Given the description of an element on the screen output the (x, y) to click on. 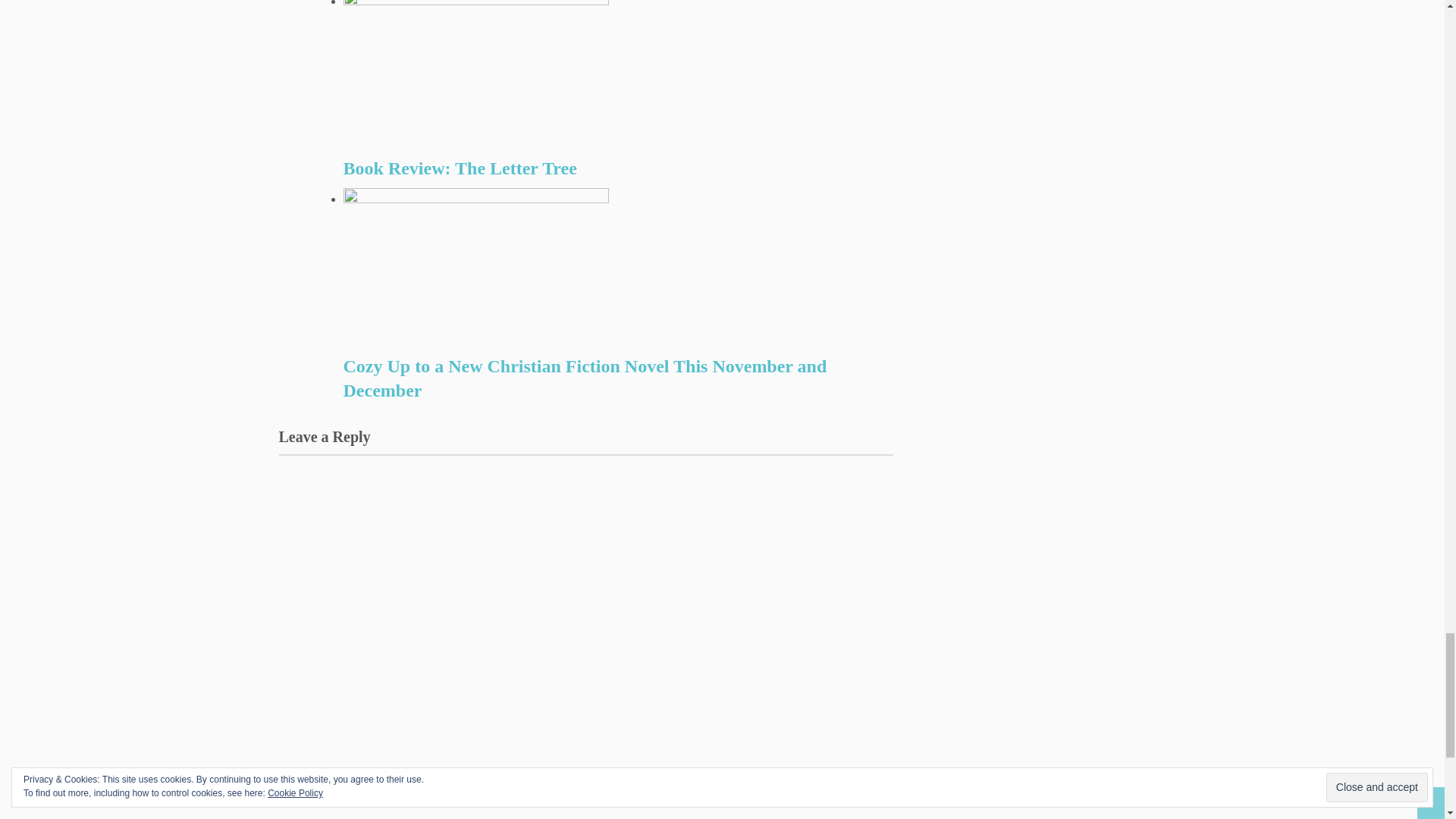
Book Review: The Letter Tree (617, 168)
